Given the description of an element on the screen output the (x, y) to click on. 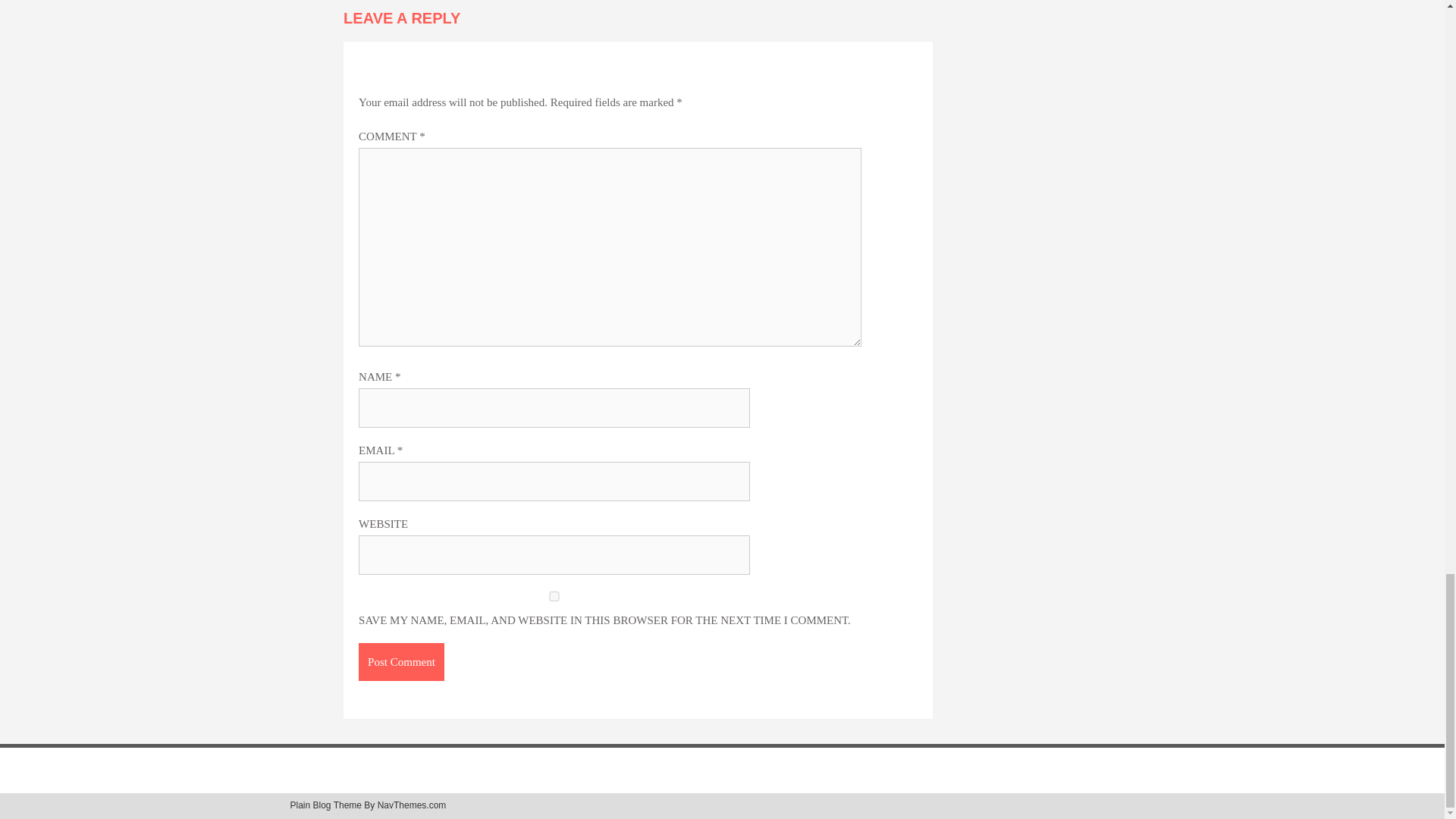
Plain Blog Theme (325, 805)
Post Comment (401, 661)
Post Comment (401, 661)
yes (553, 596)
NavThemes.com (411, 805)
